Given the description of an element on the screen output the (x, y) to click on. 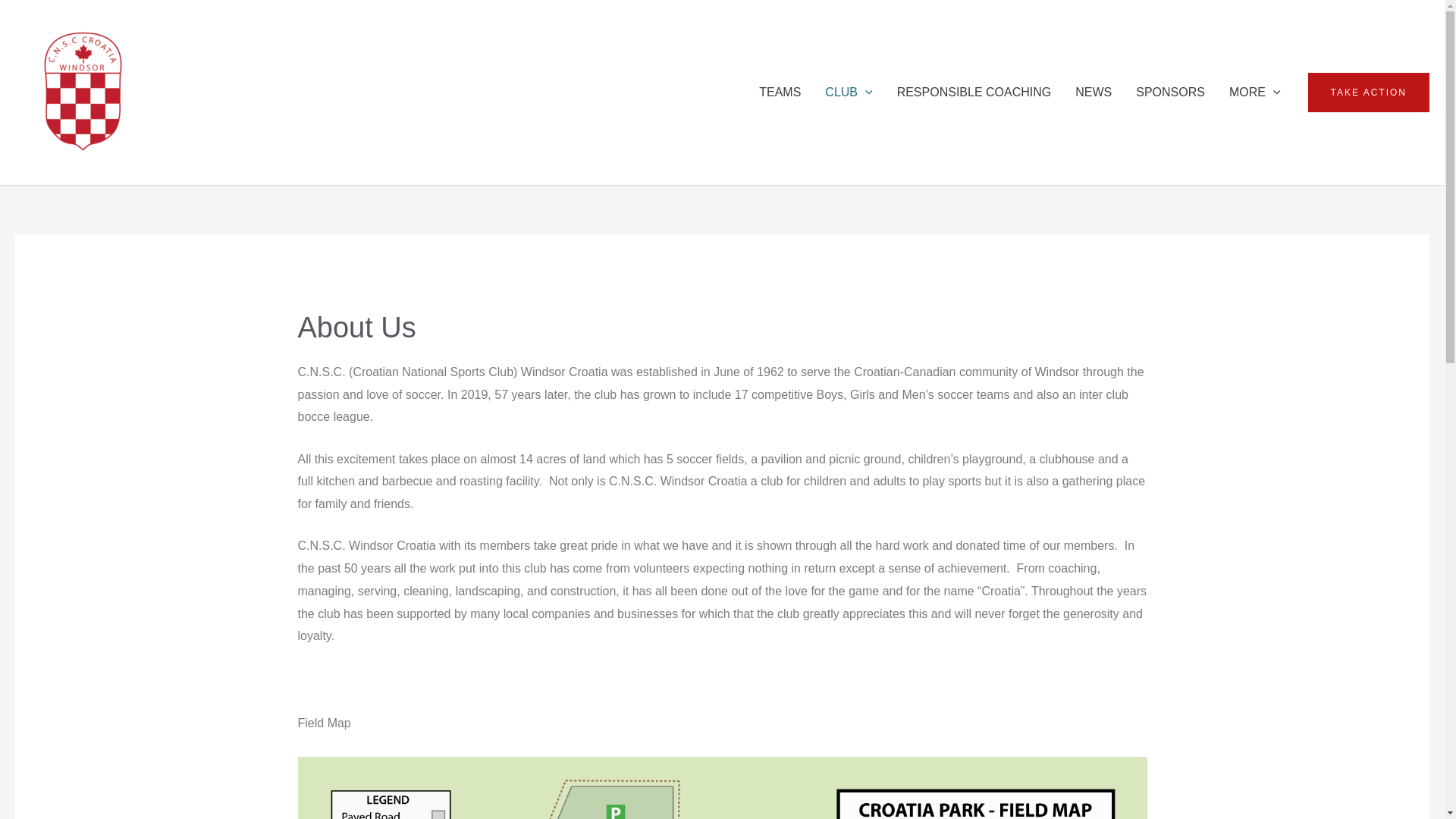
NEWS (1093, 92)
CLUB (847, 92)
TAKE ACTION (1368, 92)
TEAMS (779, 92)
SPONSORS (1170, 92)
MORE (1254, 92)
RESPONSIBLE COACHING (974, 92)
